Given the description of an element on the screen output the (x, y) to click on. 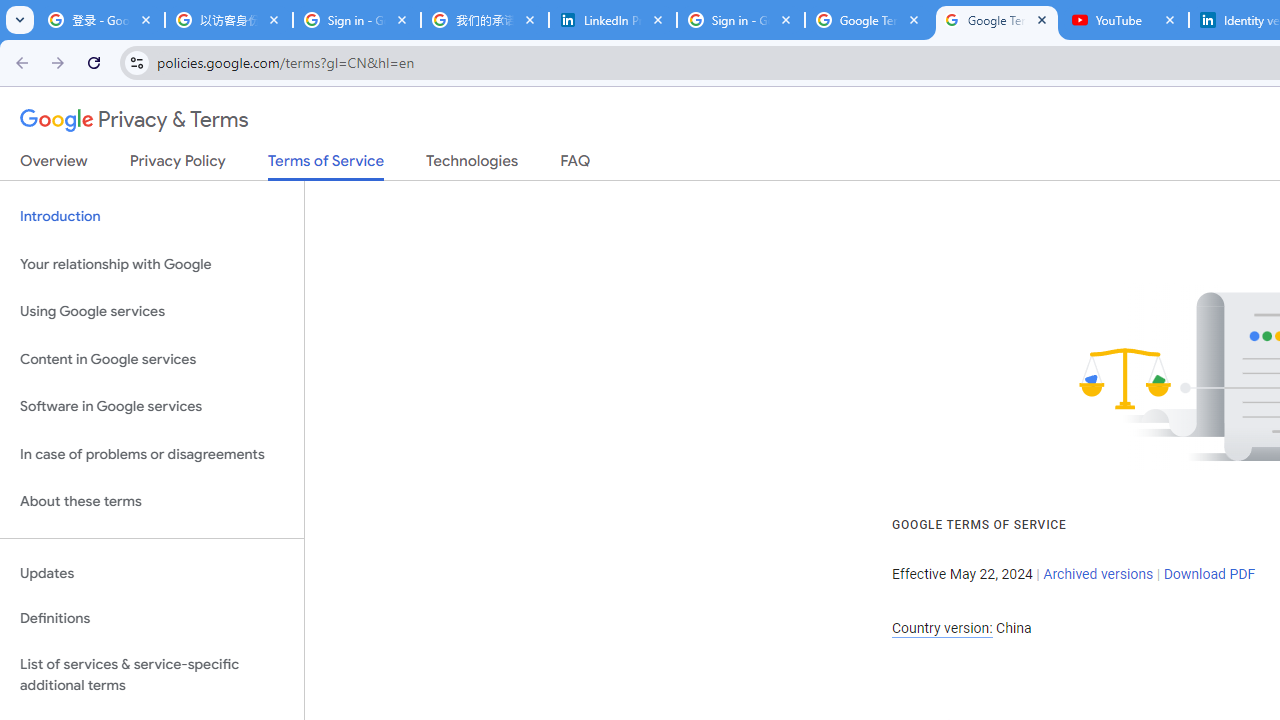
Software in Google services (152, 407)
LinkedIn Privacy Policy (613, 20)
In case of problems or disagreements (152, 453)
YouTube (1125, 20)
Sign in - Google Accounts (357, 20)
Definitions (152, 619)
Technologies (472, 165)
Privacy & Terms (134, 120)
System (10, 11)
Archived versions (1098, 574)
List of services & service-specific additional terms (152, 674)
Back (19, 62)
About these terms (152, 502)
Updates (152, 573)
